Given the description of an element on the screen output the (x, y) to click on. 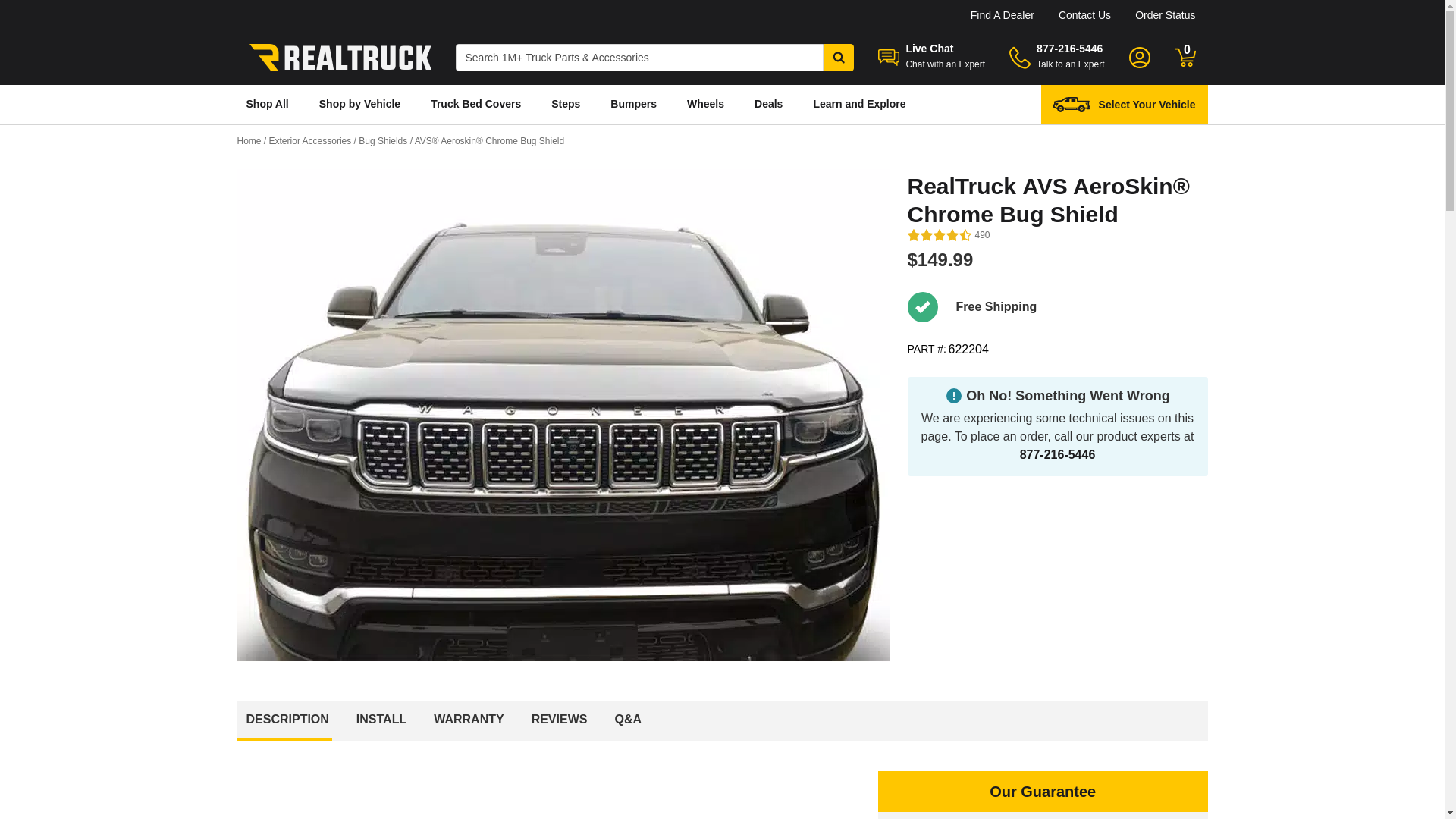
Find A Dealer (1002, 15)
0 (1184, 56)
Order Status (1165, 15)
Contact Us (1084, 15)
Live Chat (929, 48)
Chat with an Expert (945, 64)
